Given the description of an element on the screen output the (x, y) to click on. 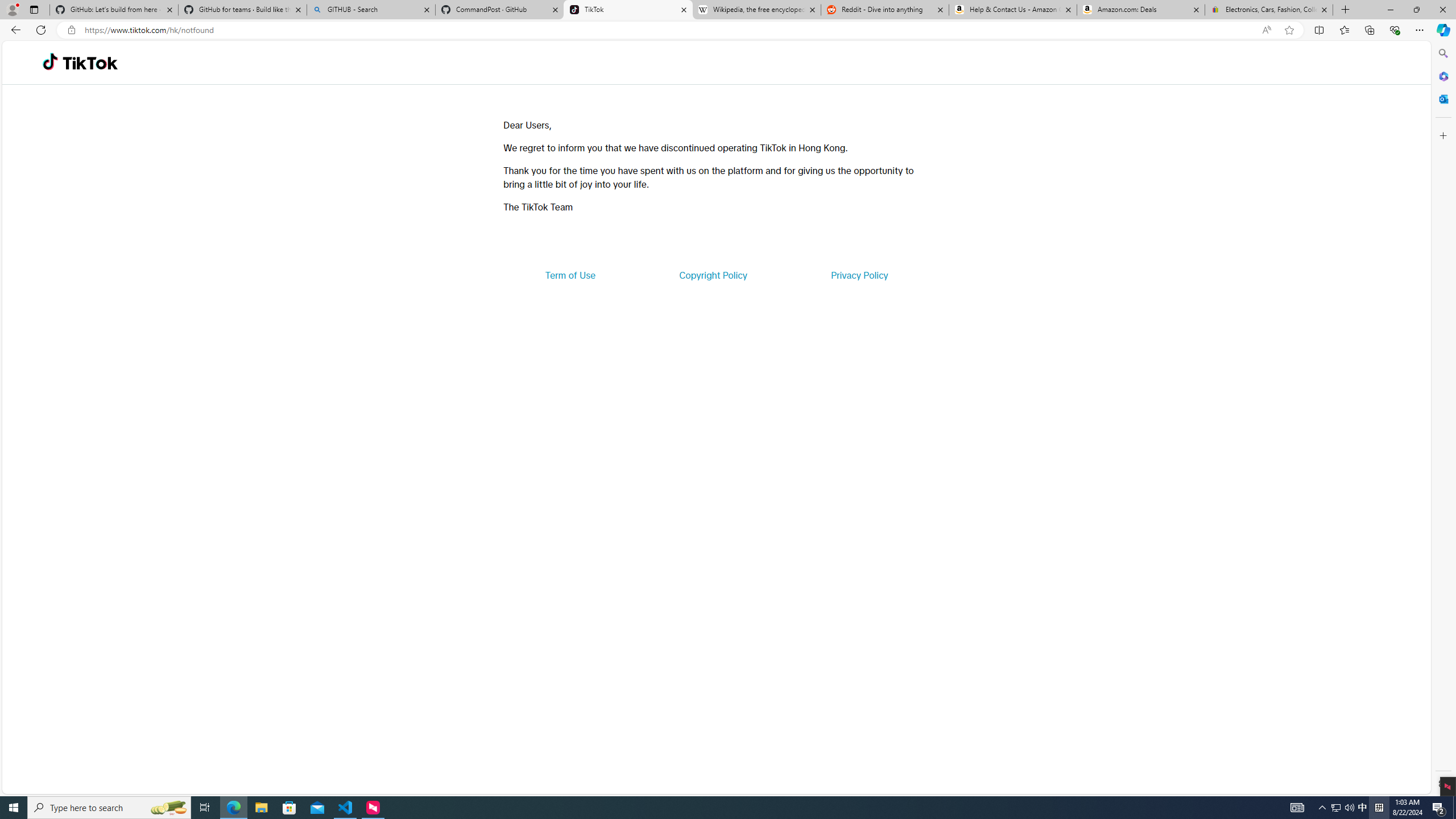
Term of Use (569, 274)
Wikipedia, the free encyclopedia (756, 9)
